Given the description of an element on the screen output the (x, y) to click on. 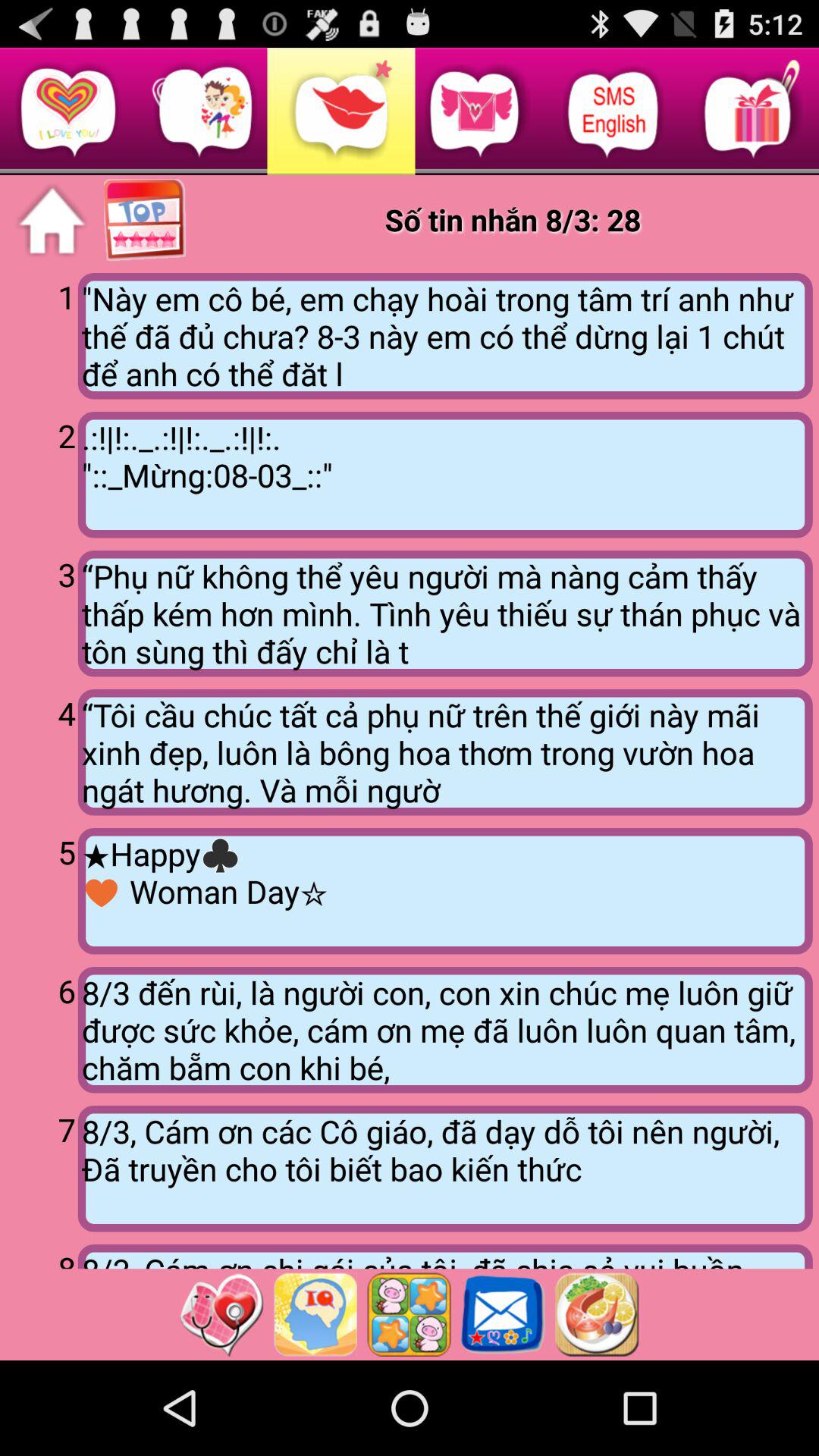
go to top (145, 220)
